Given the description of an element on the screen output the (x, y) to click on. 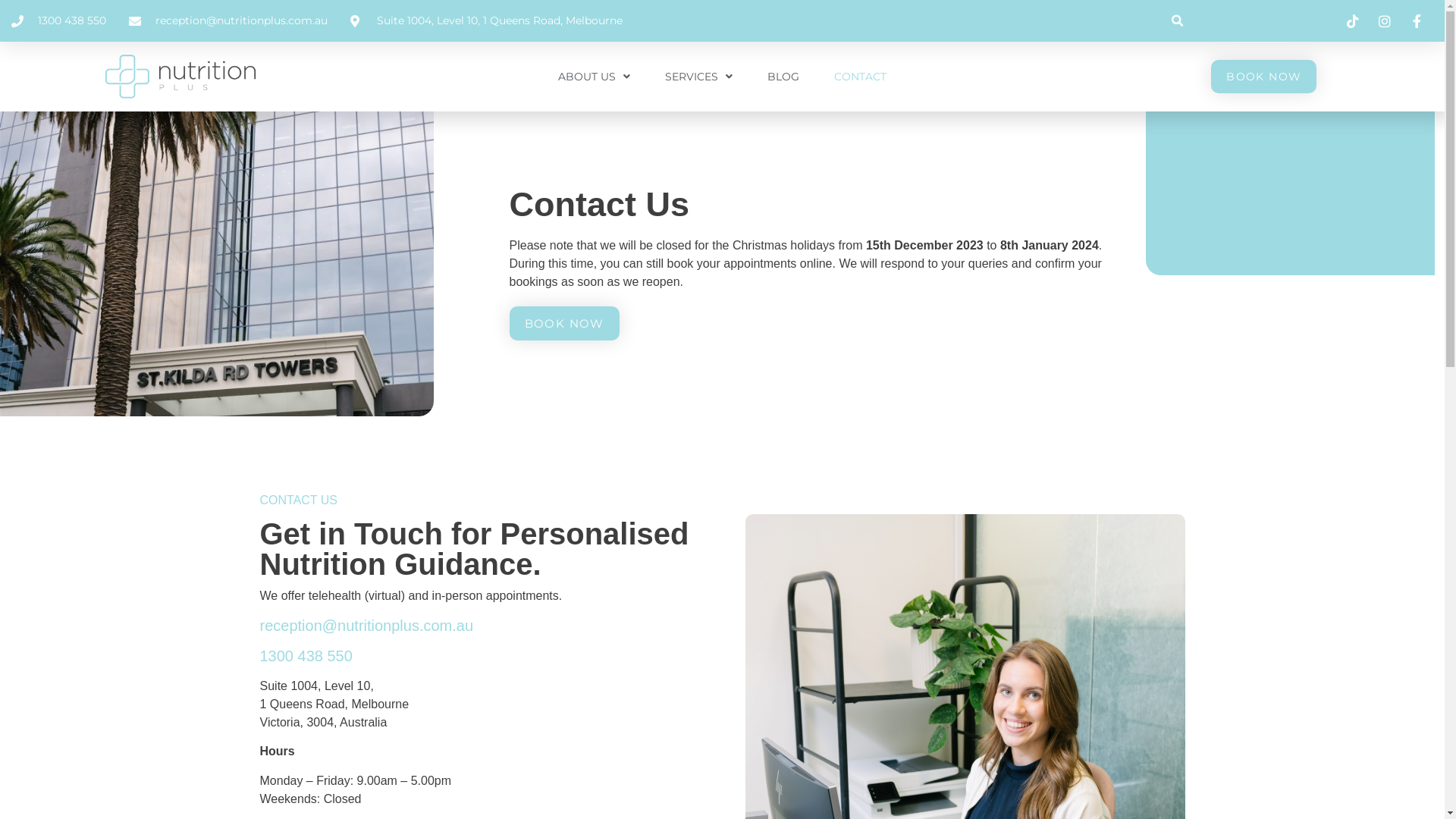
SERVICES Element type: text (698, 76)
1300 438 550 Element type: text (305, 655)
reception@nutritionplus.com.au Element type: text (366, 625)
BLOG Element type: text (783, 76)
ABOUT US Element type: text (593, 76)
reception@nutritionplus.com.au Element type: text (227, 20)
1300 438 550 Element type: text (58, 20)
CONTACT Element type: text (860, 76)
BOOK NOW Element type: text (564, 323)
BOOK NOW Element type: text (1263, 76)
